Given the description of an element on the screen output the (x, y) to click on. 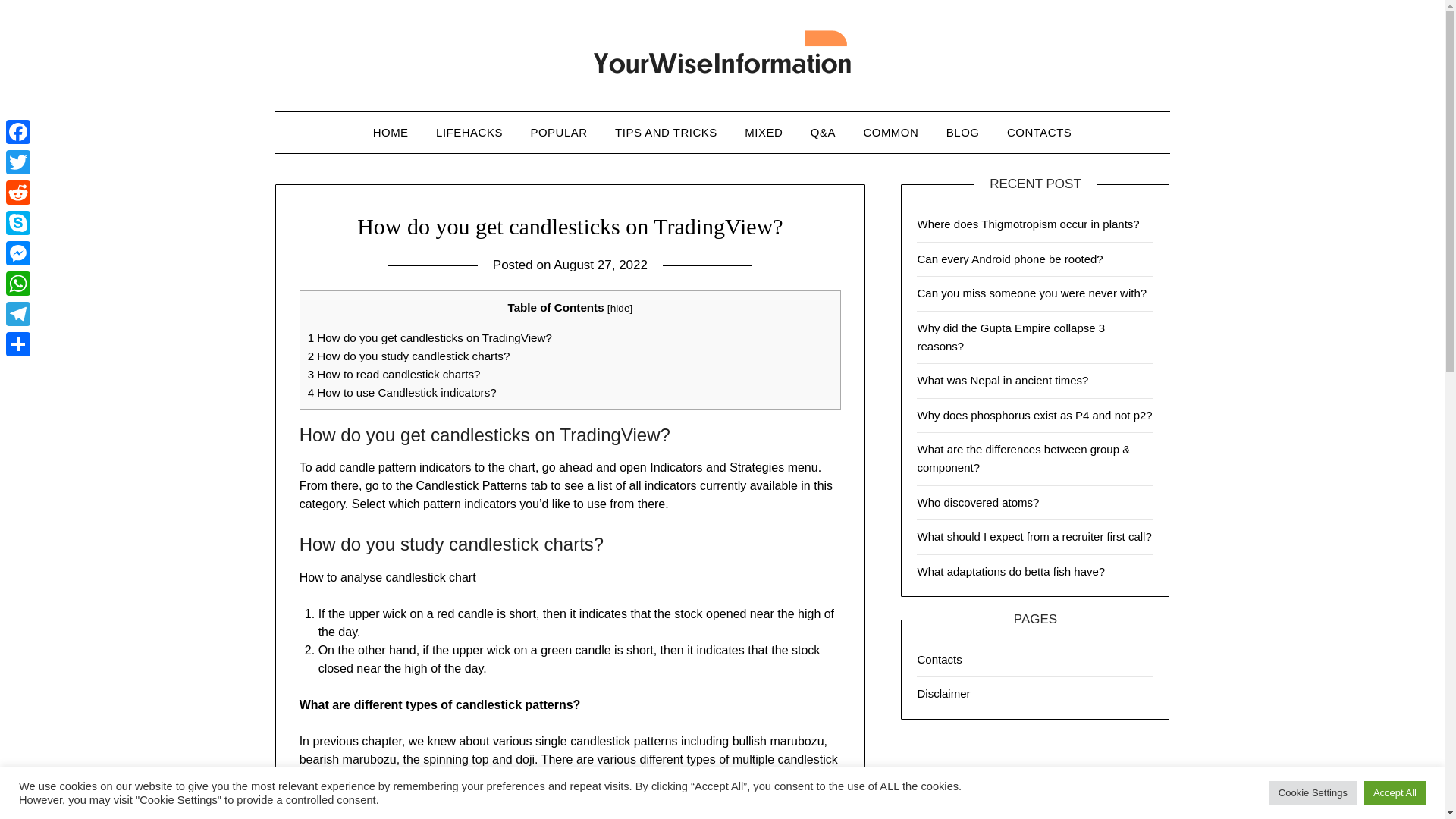
LIFEHACKS (469, 132)
CONTACTS (1038, 132)
Who discovered atoms? (978, 502)
Facebook (17, 132)
3 How to read candlestick charts? (393, 373)
POPULAR (558, 132)
Can you miss someone you were never with? (1032, 292)
hide (620, 307)
MIXED (763, 132)
Skype (17, 223)
HOME (390, 132)
Reddit (17, 192)
Telegram (17, 313)
WhatsApp (17, 283)
